Given the description of an element on the screen output the (x, y) to click on. 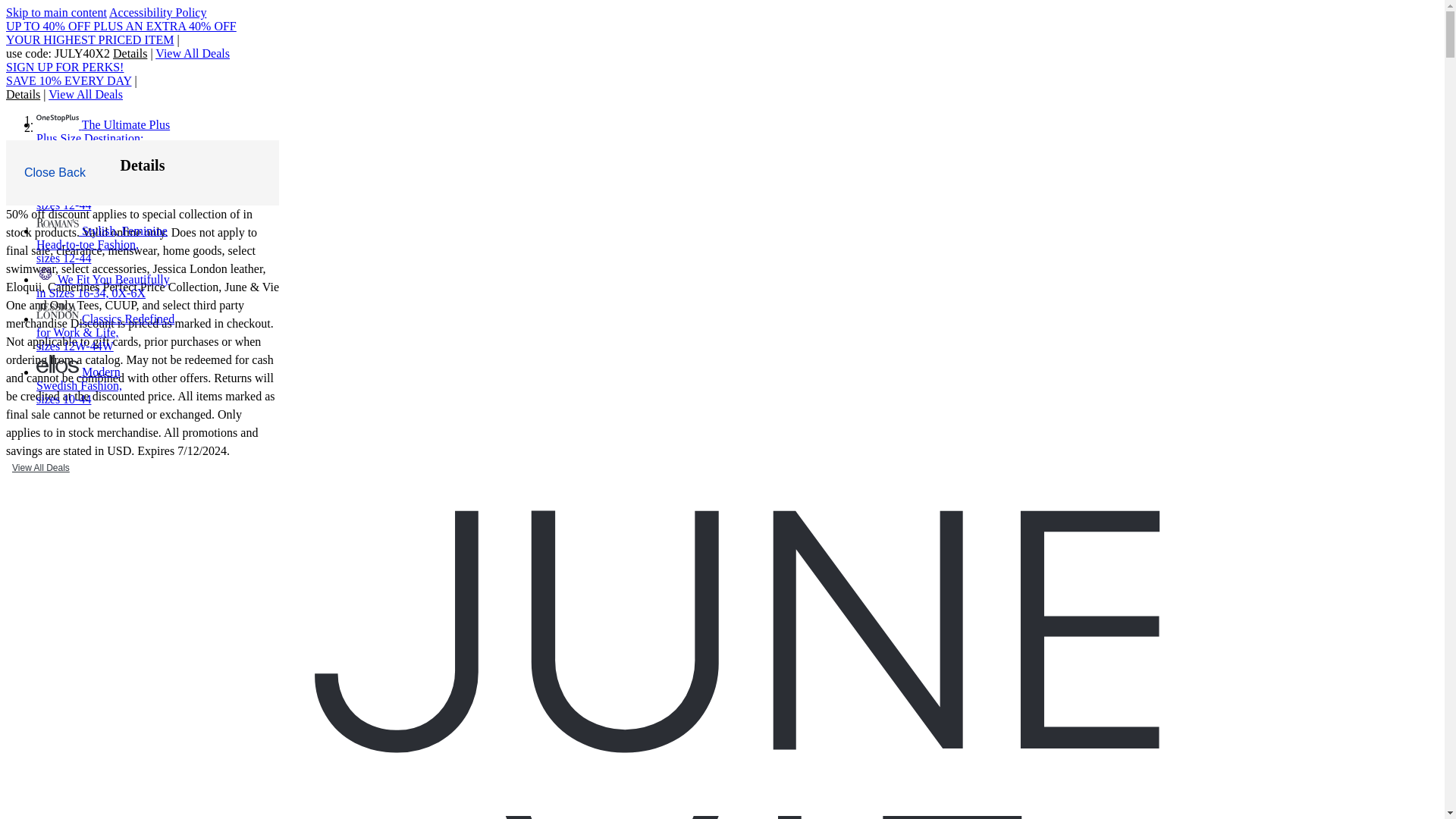
Roaman's (57, 223)
Woman Within (57, 169)
View All Deals (192, 52)
ellos (57, 363)
View All Deals (40, 467)
use code: JULY40X2 Details (77, 52)
OneStopPlus (57, 117)
View All Deals (85, 93)
Accessibility Policy (157, 11)
Details (24, 93)
Catherines (45, 274)
Jessica London (57, 311)
Skip to main content (55, 11)
Close Back (54, 172)
